Given the description of an element on the screen output the (x, y) to click on. 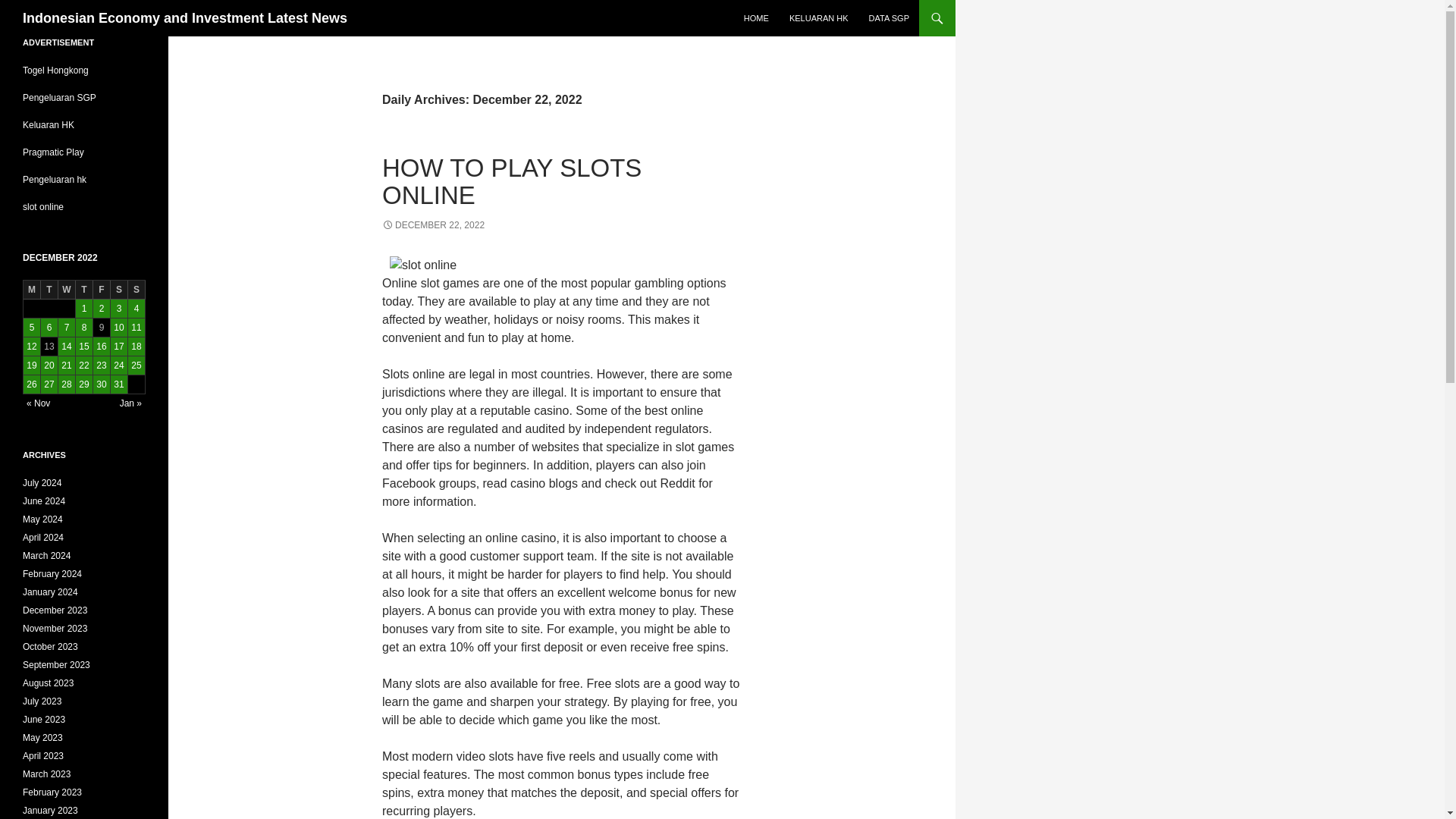
Thursday (84, 289)
20 (49, 365)
23 (101, 365)
Saturday (119, 289)
22 (84, 365)
4 (136, 308)
1 (84, 308)
12 (31, 346)
HOME (756, 18)
KELUARAN HK (818, 18)
2 (101, 308)
18 (136, 346)
Friday (101, 289)
Keluaran HK (48, 124)
Wednesday (66, 289)
